Given the description of an element on the screen output the (x, y) to click on. 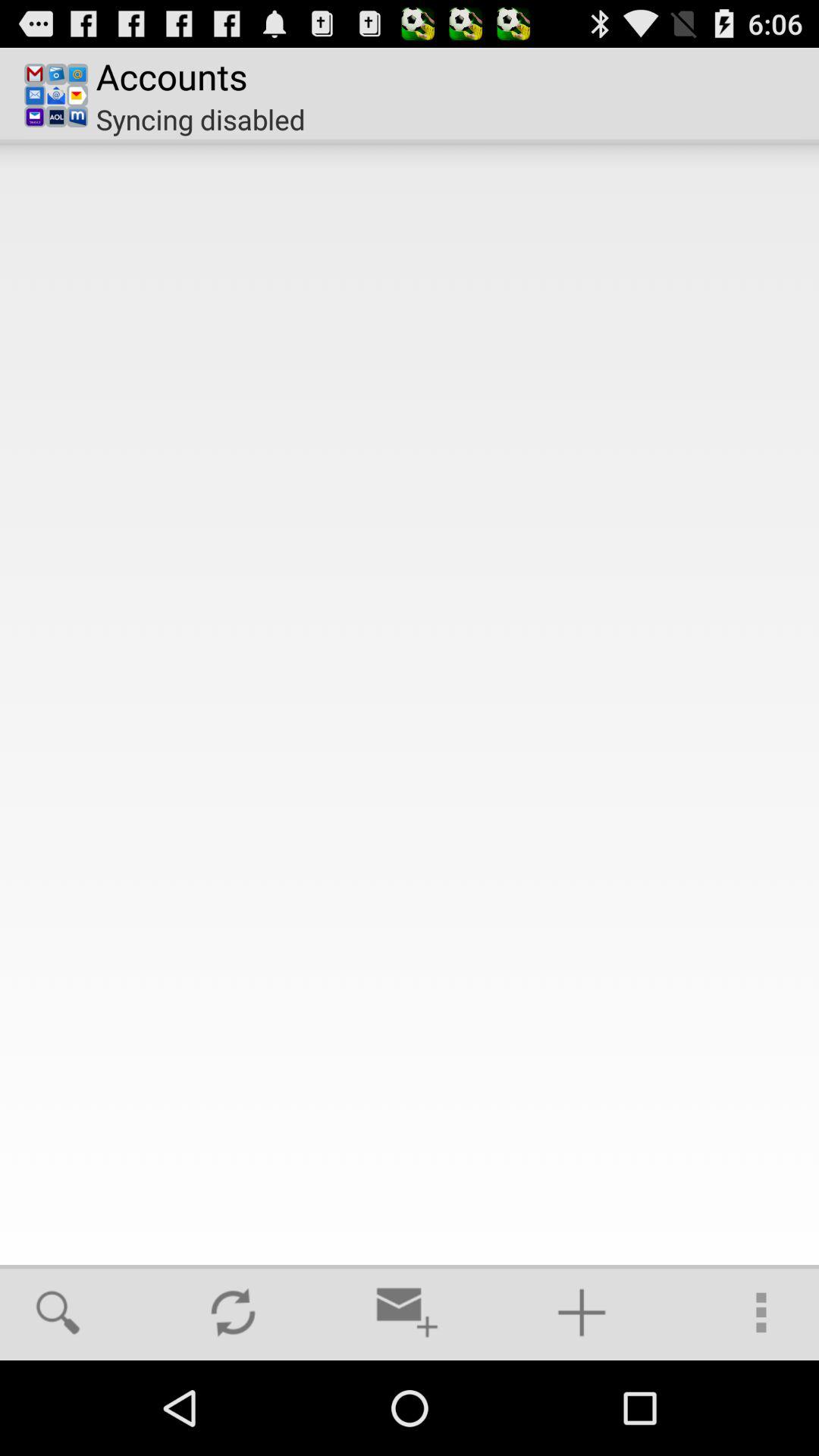
select the icon below syncing disabled icon (409, 703)
